Given the description of an element on the screen output the (x, y) to click on. 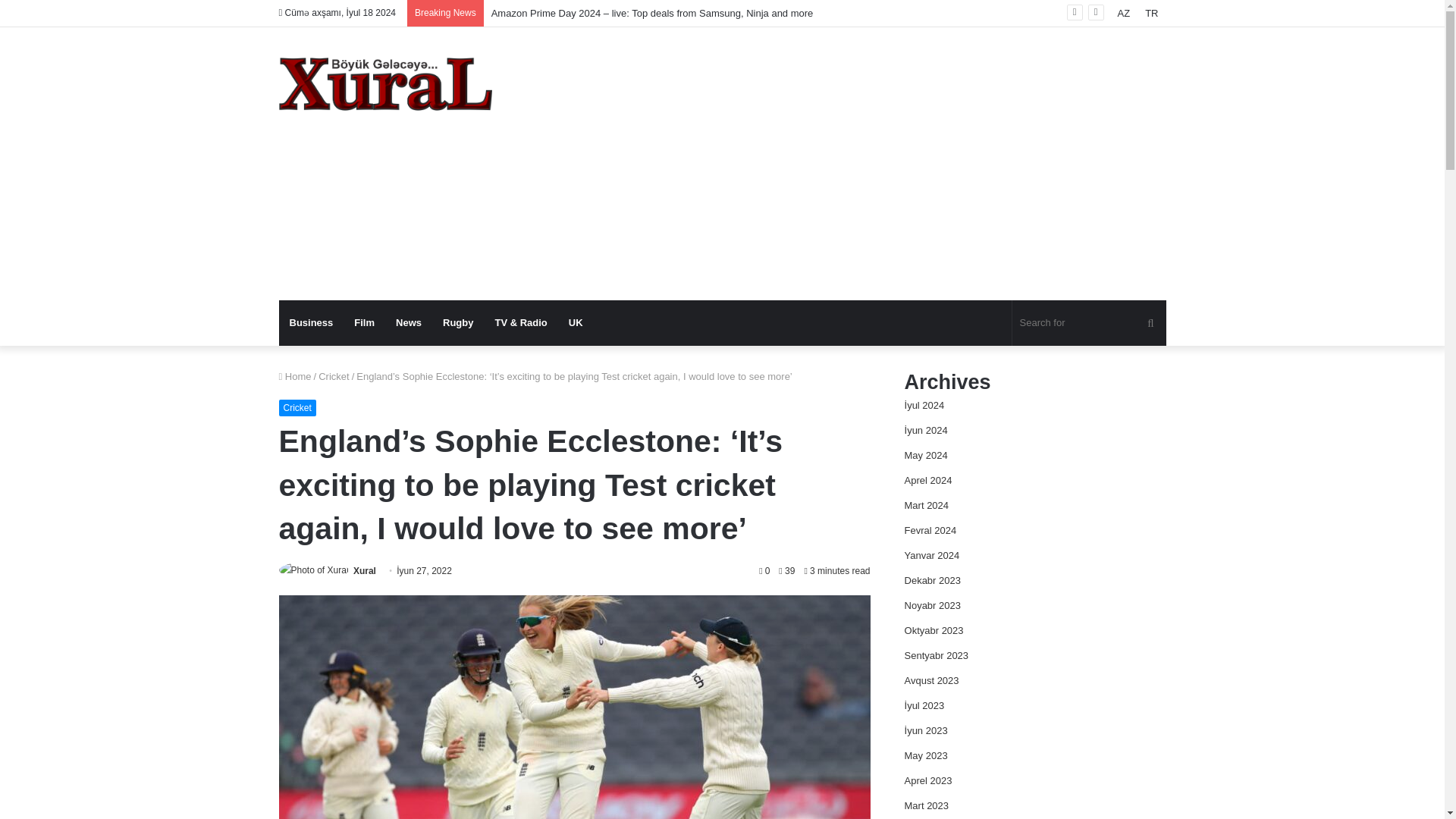
Cricket (297, 407)
News (408, 322)
Home (295, 376)
YouTube video player (1044, 220)
Xural (364, 570)
UK (575, 322)
Business (311, 322)
Film (364, 322)
TR (1151, 13)
Xural (385, 83)
AZ (1123, 13)
Cricket (333, 376)
Xural (364, 570)
Rugby (457, 322)
Search for (1088, 322)
